Given the description of an element on the screen output the (x, y) to click on. 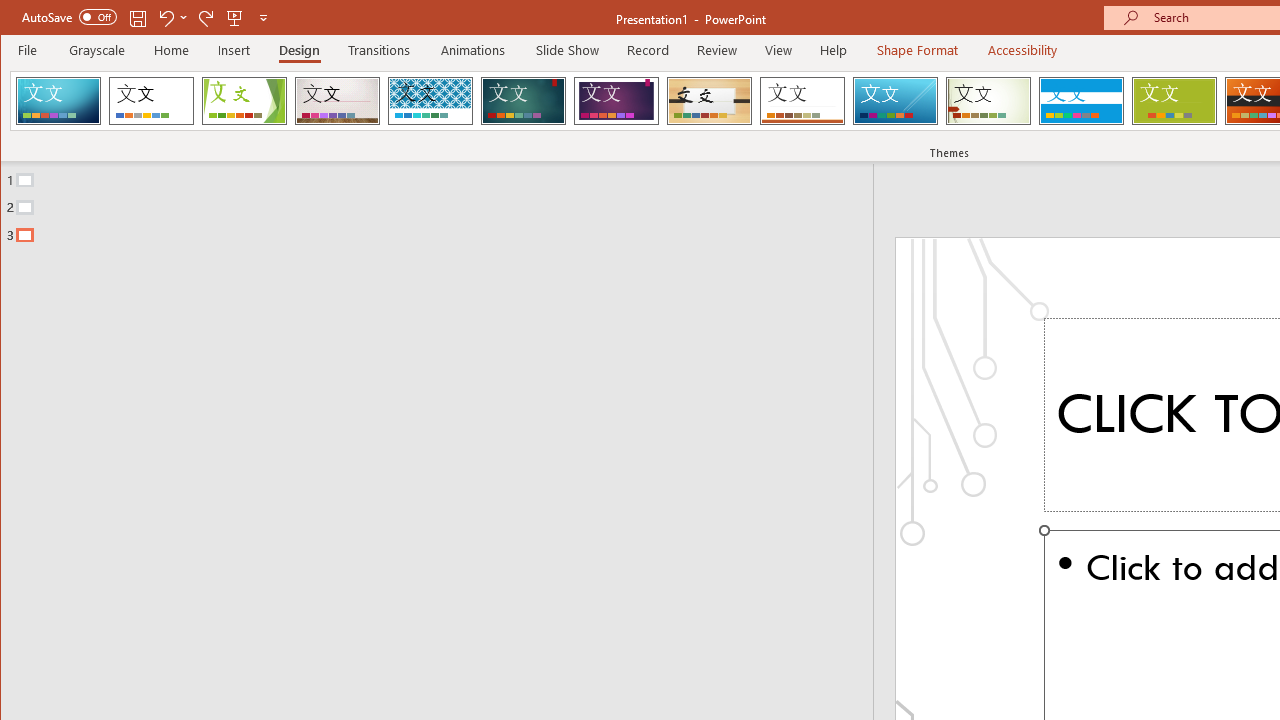
Office Theme (151, 100)
Retrospect (802, 100)
Wisp (988, 100)
Gallery (337, 100)
Integral (430, 100)
